Given the description of an element on the screen output the (x, y) to click on. 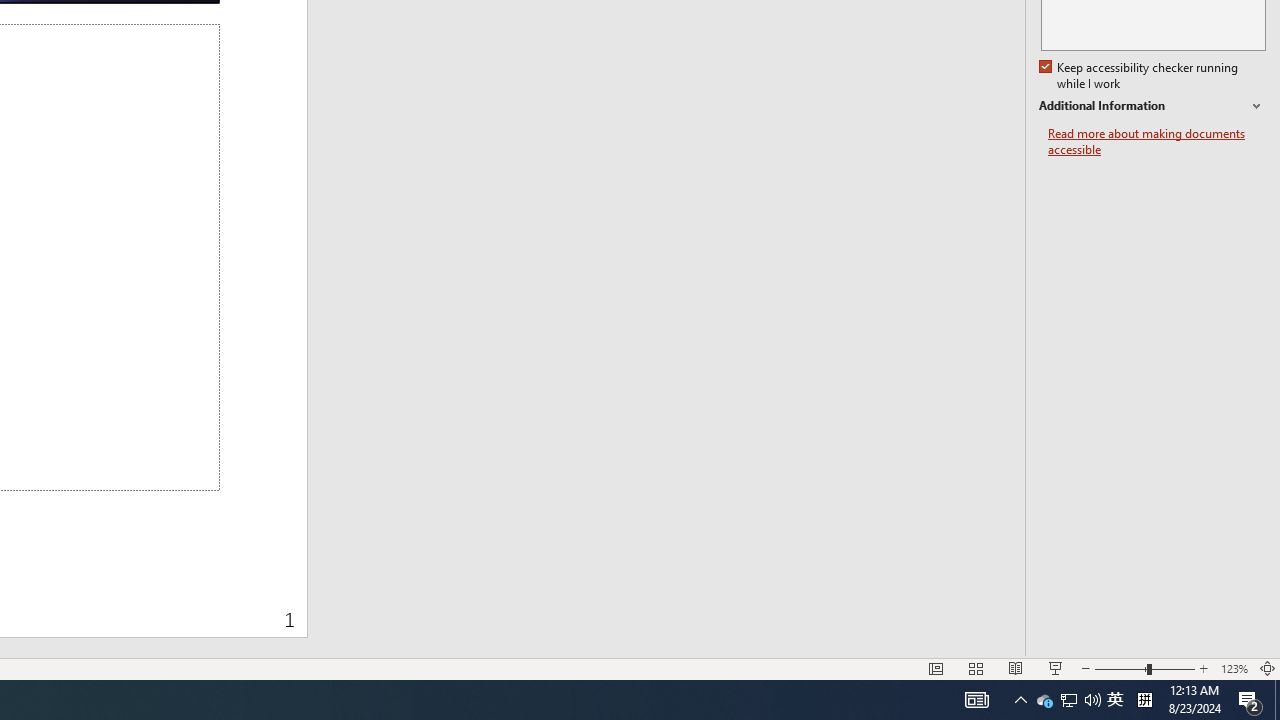
Zoom 123% (1234, 668)
